Given the description of an element on the screen output the (x, y) to click on. 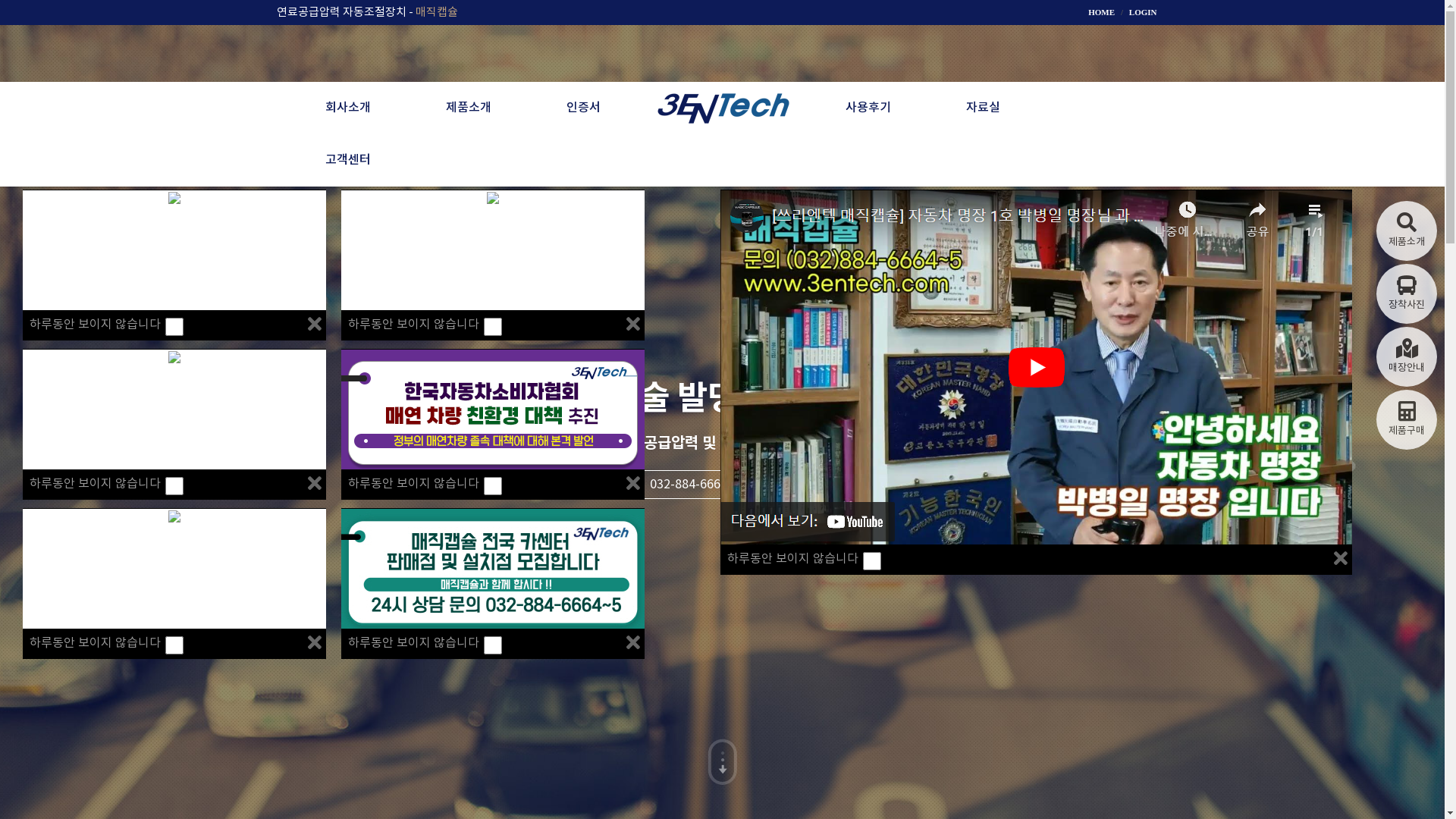
1 Element type: text (871, 561)
1 Element type: text (492, 645)
LOGIN Element type: text (1143, 11)
1 Element type: text (492, 326)
1 Element type: text (492, 485)
1 Element type: text (174, 326)
1 Element type: text (174, 485)
  032-884-6665 Element type: text (679, 484)
1 Element type: text (174, 645)
HOME Element type: text (1101, 11)
